Given the description of an element on the screen output the (x, y) to click on. 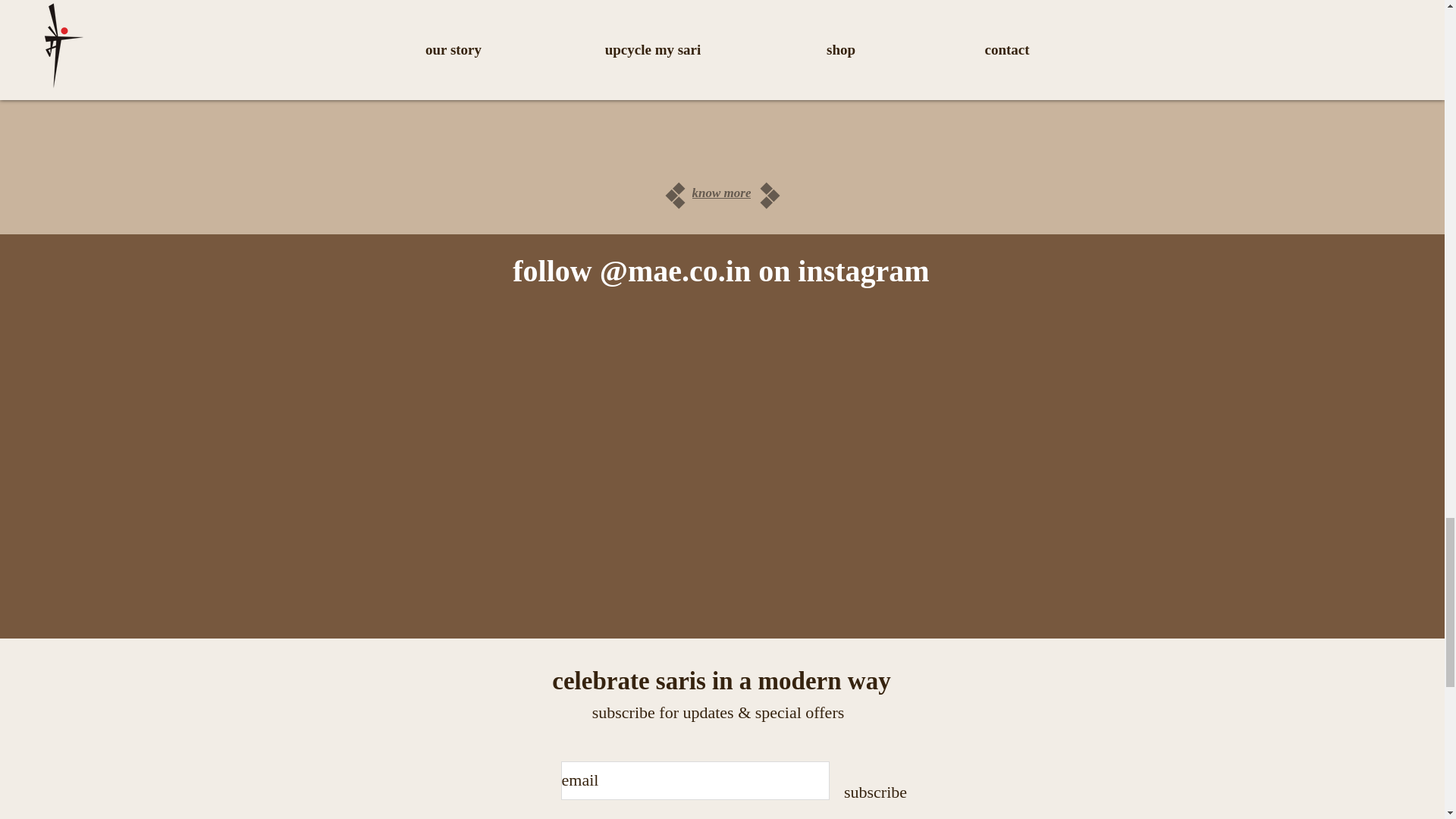
know more (720, 192)
subscribe (874, 792)
